Given the description of an element on the screen output the (x, y) to click on. 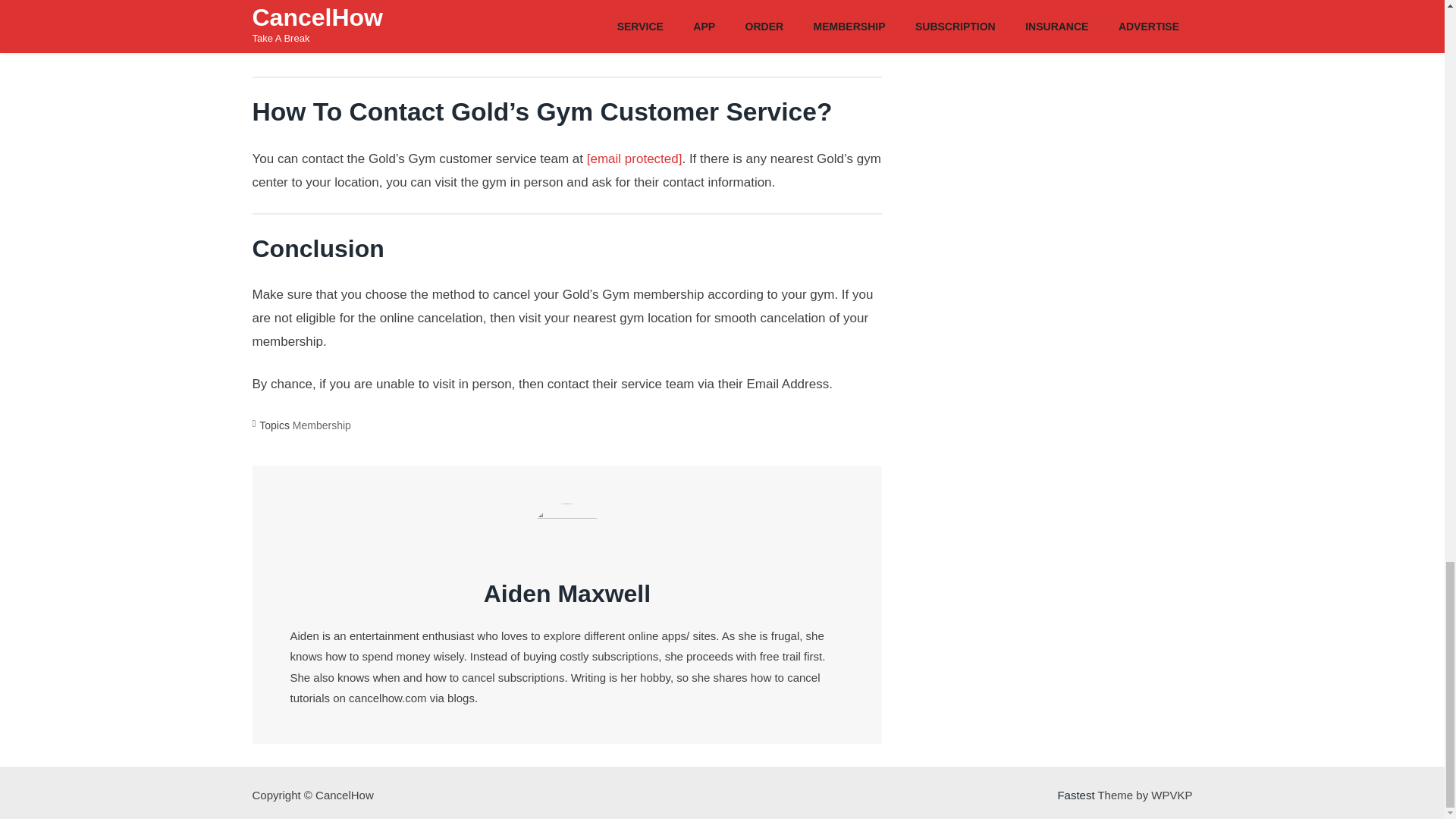
Posts by Aiden Maxwell (566, 593)
Fastest (1075, 794)
Membership (321, 425)
Aiden Maxwell (566, 593)
